Given the description of an element on the screen output the (x, y) to click on. 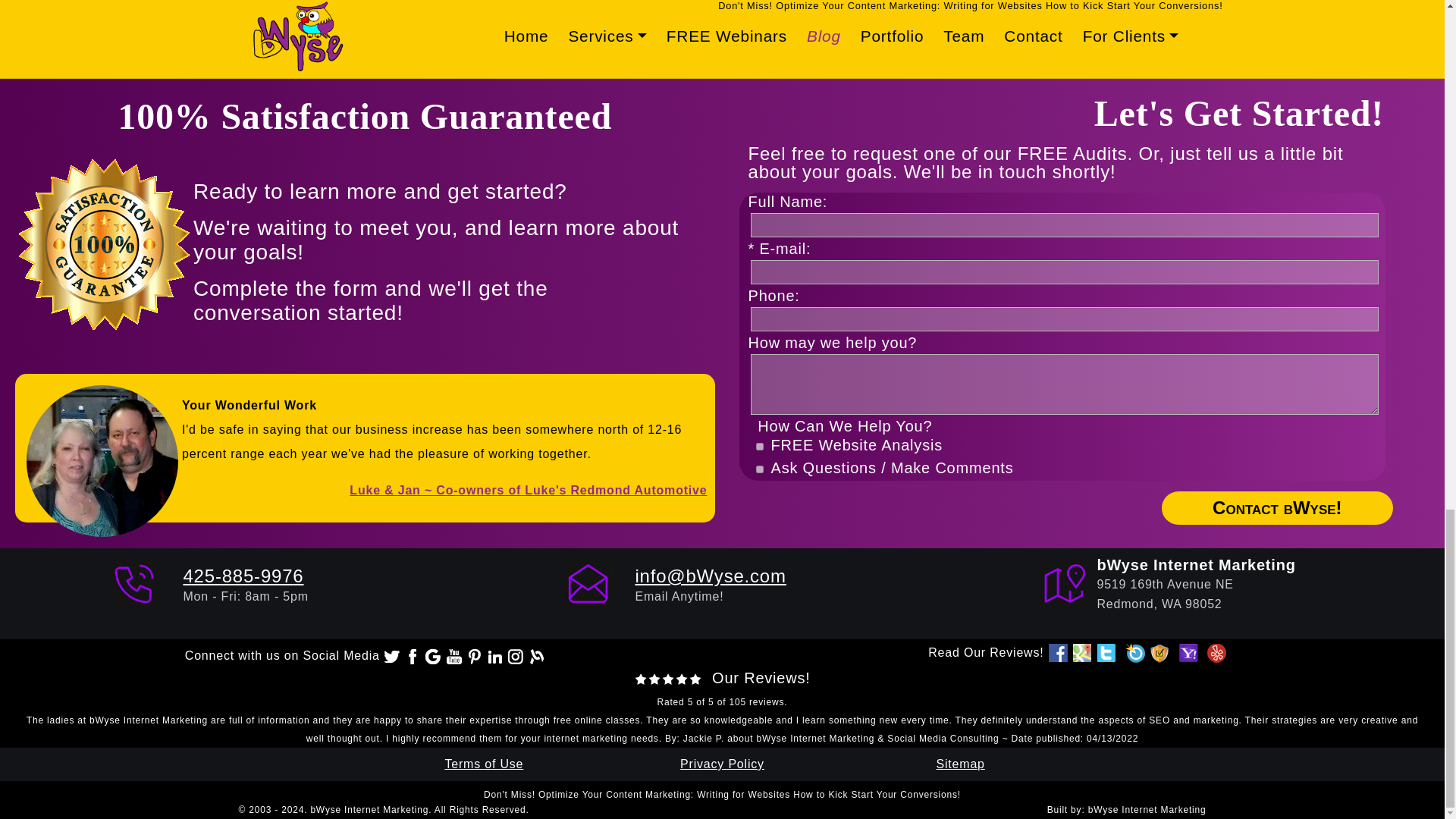
34 (758, 446)
Contact bWyse! (1277, 507)
33 (758, 469)
